Given the description of an element on the screen output the (x, y) to click on. 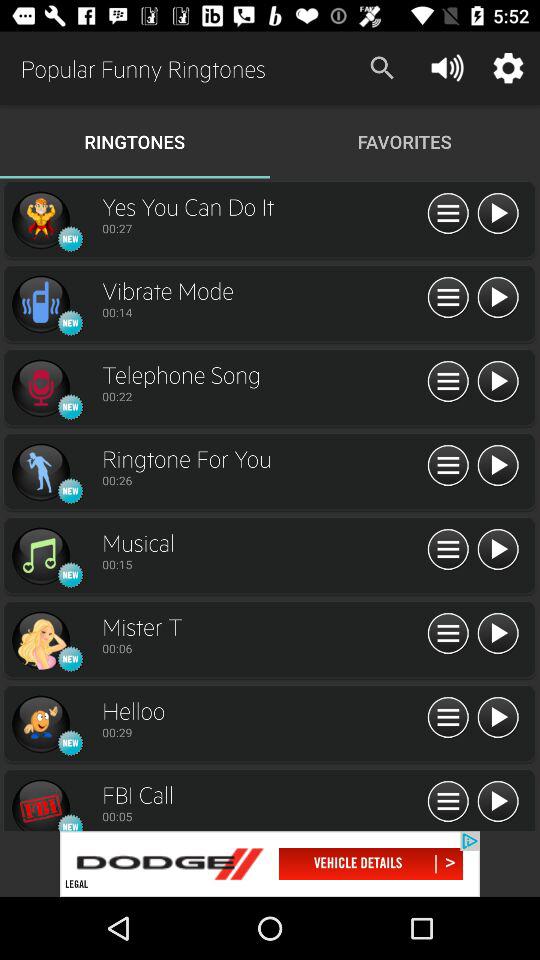
ringtines song option (40, 388)
